Given the description of an element on the screen output the (x, y) to click on. 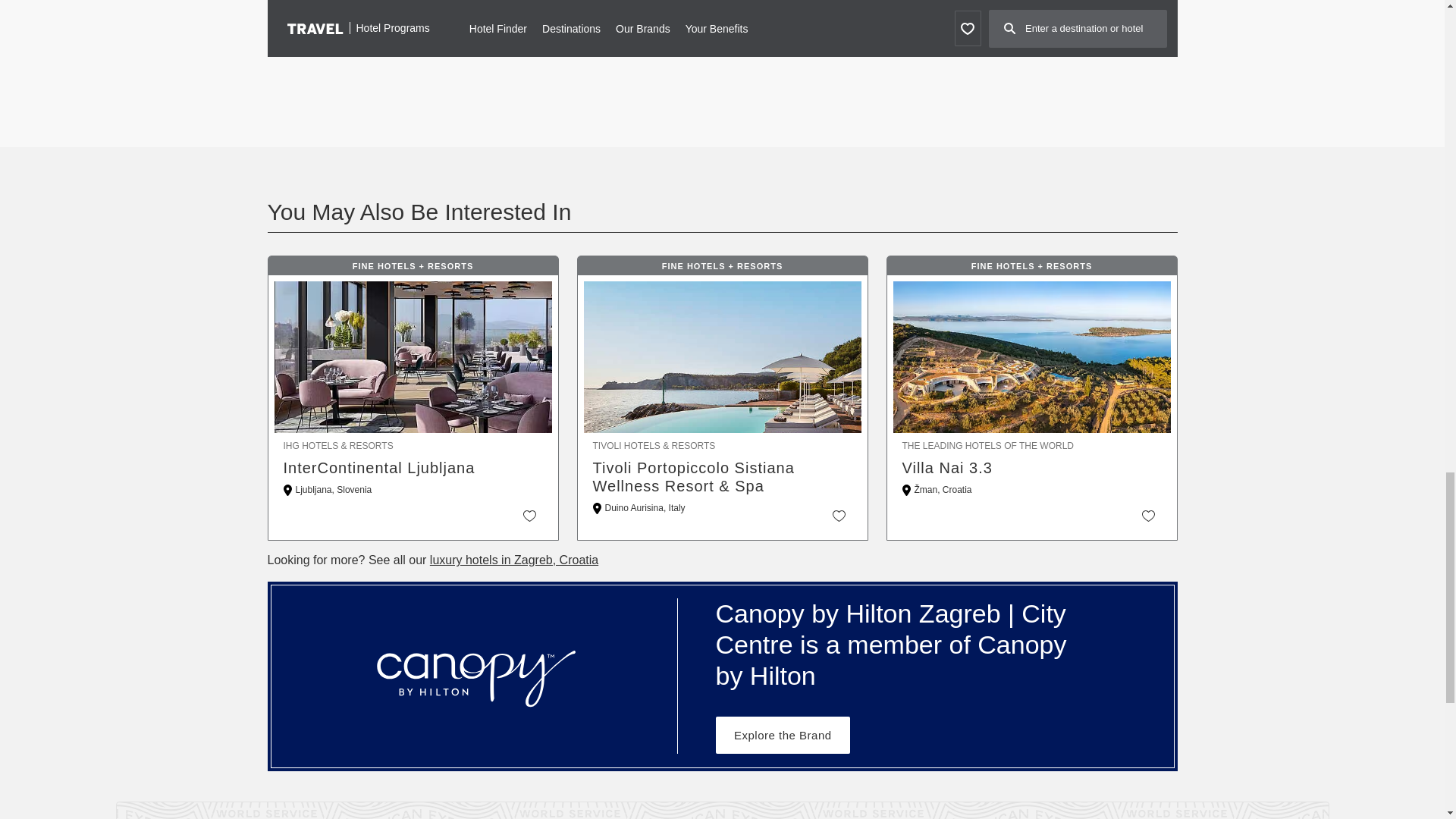
Explore the Brand (783, 734)
luxury hotels in Zagreb, Croatia (513, 559)
Villa Nai 3.3 (1031, 467)
InterContinental Ljubljana (413, 467)
